Given the description of an element on the screen output the (x, y) to click on. 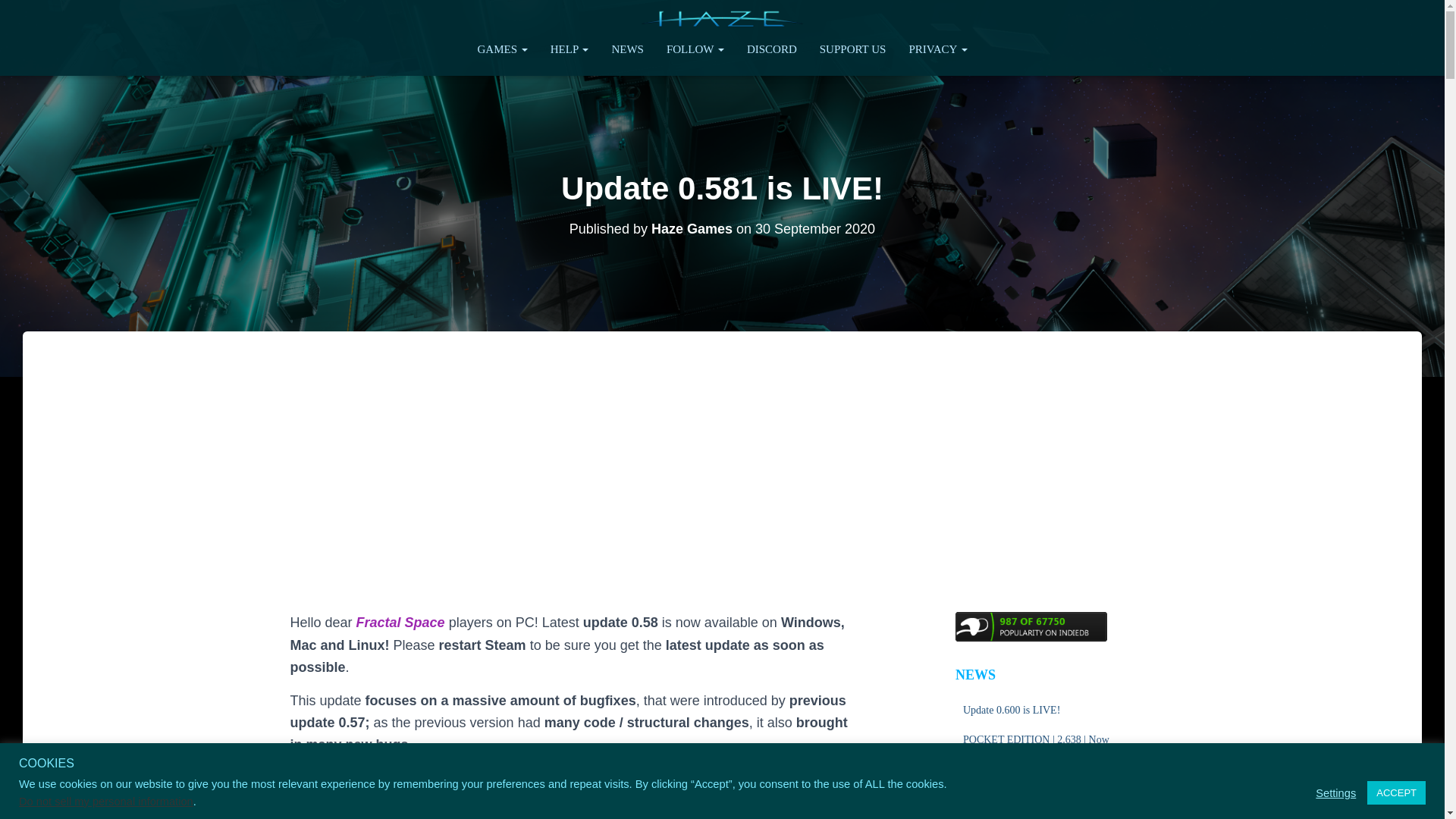
GAMES (501, 48)
NEWS (627, 48)
HELP (568, 48)
HELP (568, 48)
GAMES (501, 48)
Haze Games (721, 18)
